Given the description of an element on the screen output the (x, y) to click on. 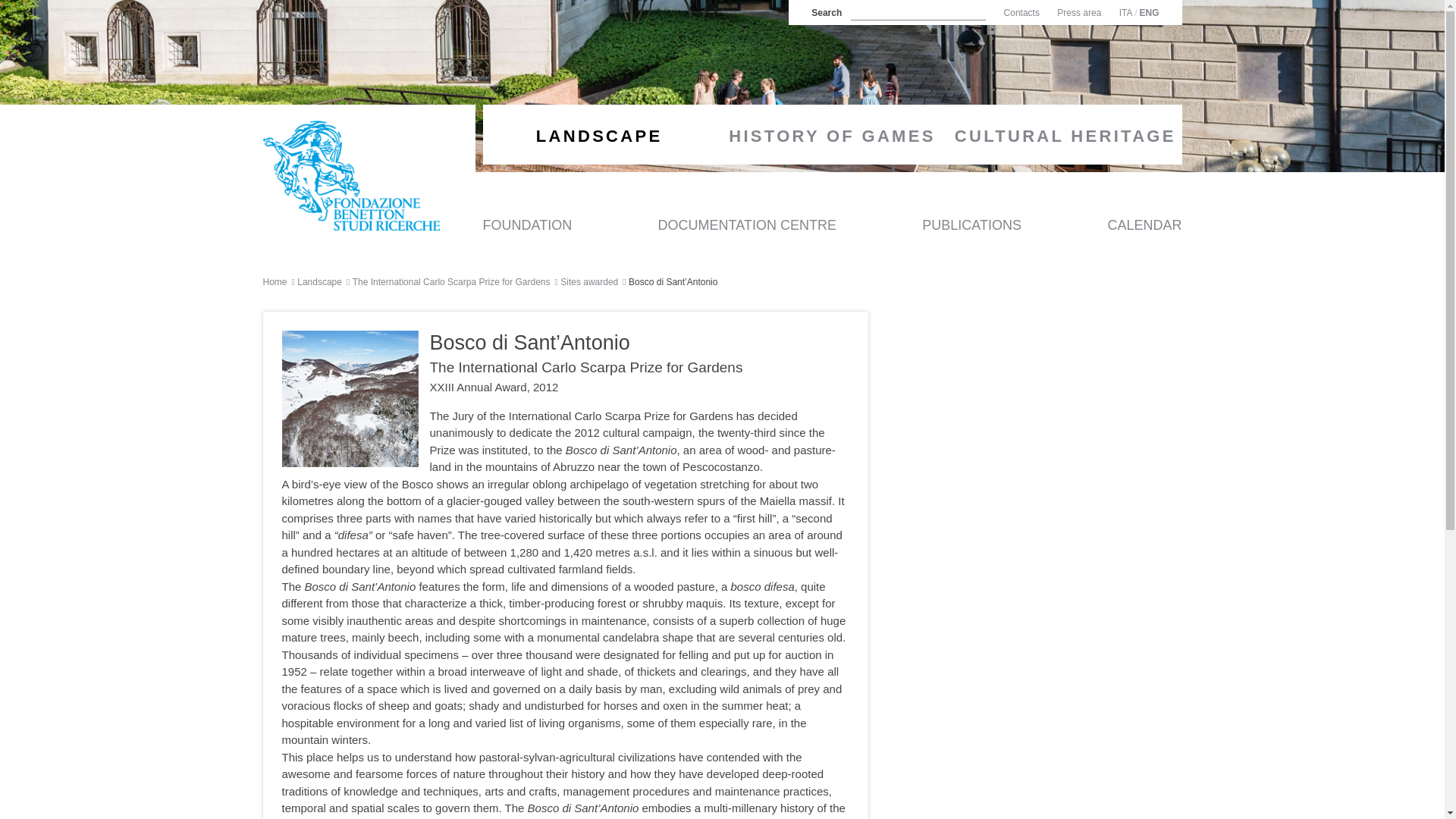
FBSR (350, 175)
